Given the description of an element on the screen output the (x, y) to click on. 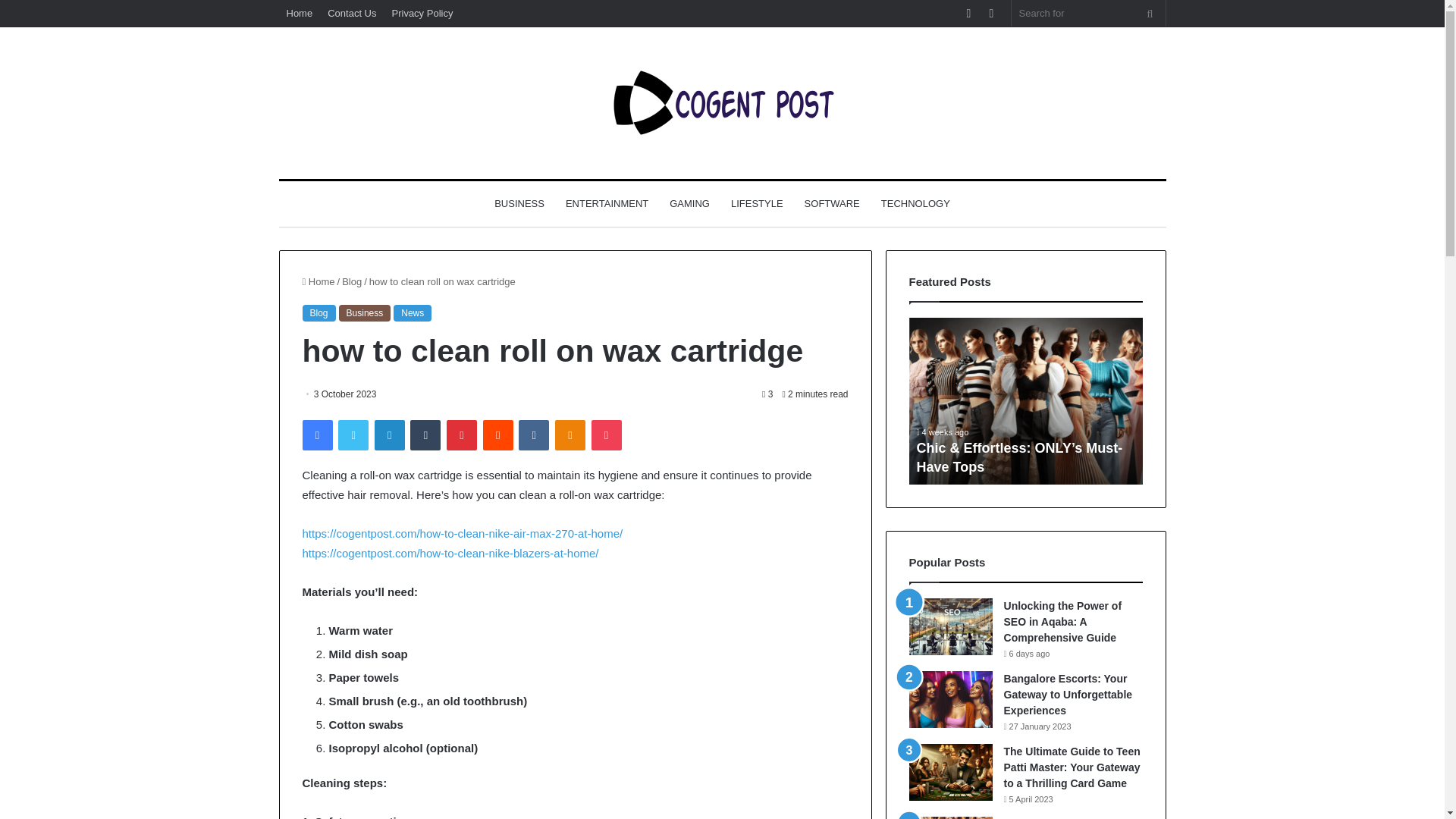
Tumblr (425, 435)
Pocket (606, 435)
Pinterest (461, 435)
News (411, 312)
Home (317, 281)
ENTERTAINMENT (606, 203)
Search for (1088, 13)
Reddit (498, 435)
Contact Us (352, 13)
Privacy Policy (422, 13)
Twitter (352, 435)
Business (365, 312)
Blog (351, 281)
Odnoklassniki (569, 435)
GAMING (689, 203)
